Given the description of an element on the screen output the (x, y) to click on. 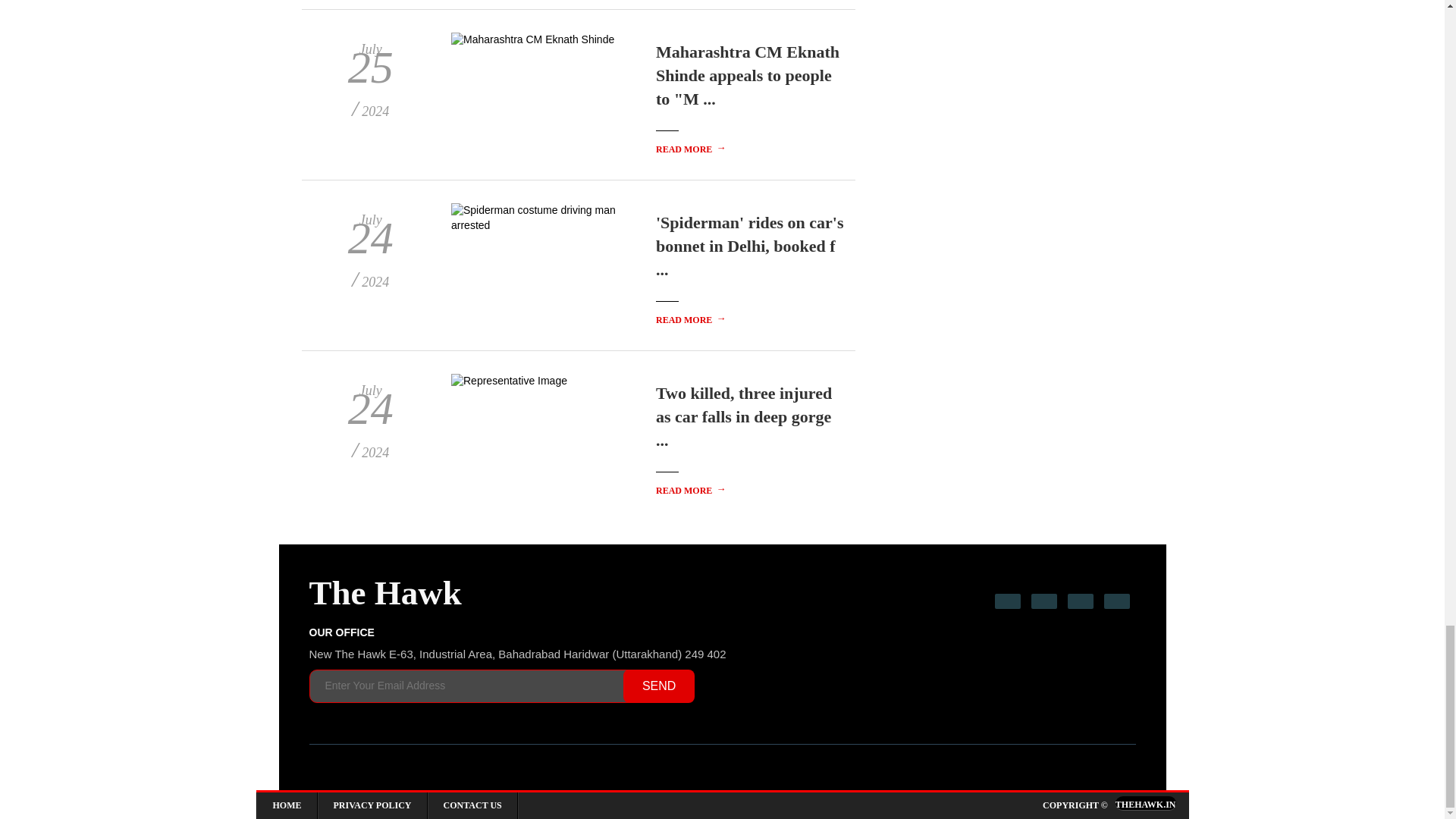
Send (658, 685)
Maharashtra CM Eknath Shinde appeals to people to "M ... (748, 75)
'Spiderman' rides on car's bonnet in Delhi, booked f ... (750, 245)
